Given the description of an element on the screen output the (x, y) to click on. 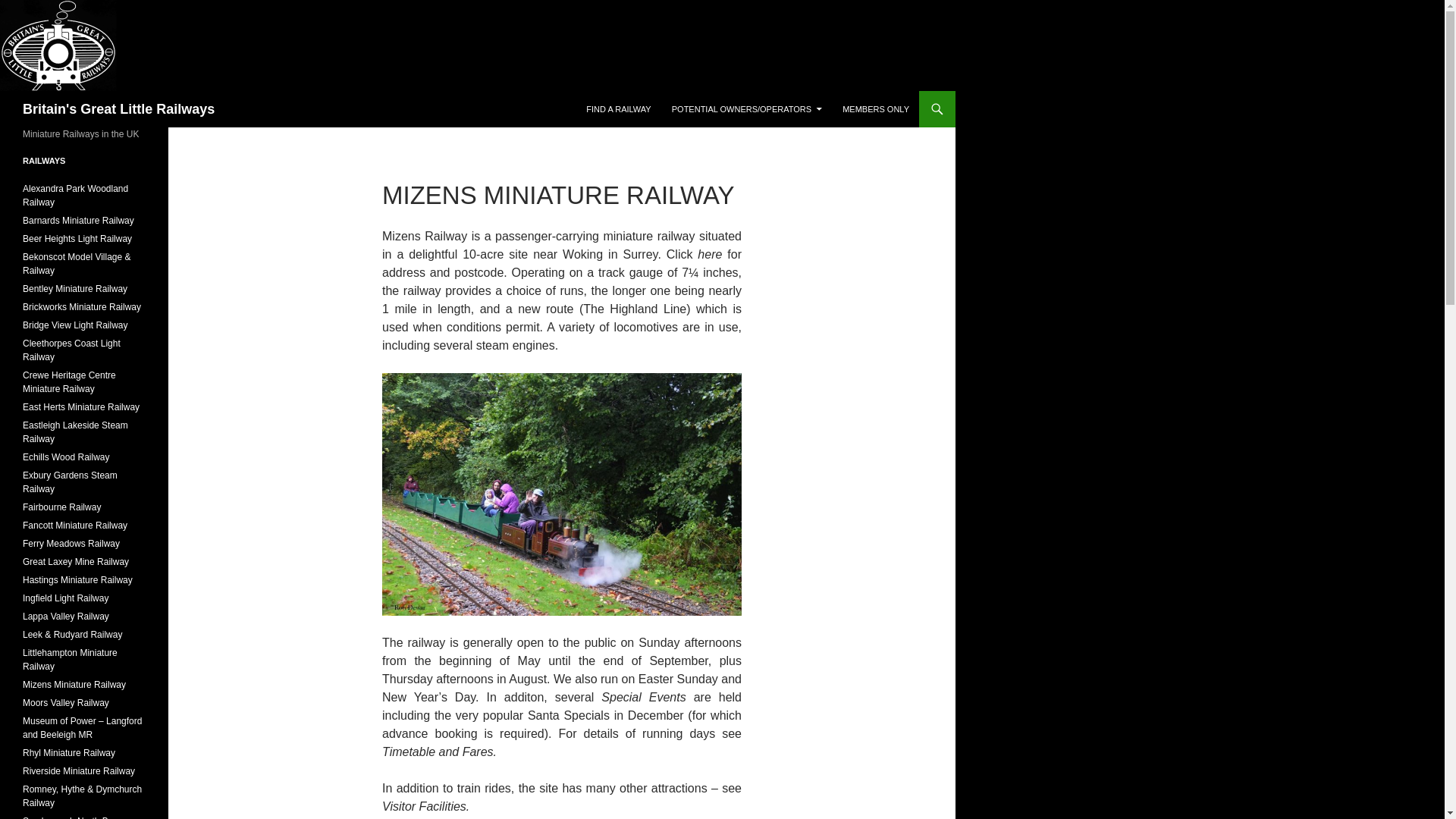
Great Laxey Mine Railway (76, 561)
Echills Wood Railway (66, 457)
Bentley Miniature Railway (75, 288)
Ingfield Light Railway (65, 597)
East Herts Miniature Railway (81, 407)
Beer Heights Light Railway (77, 238)
Crewe Heritage Centre Miniature Railway (69, 381)
Barnards Miniature Railway (78, 220)
Fairbourne Railway (61, 507)
Lappa Valley Railway (66, 615)
Brickworks Miniature Railway (82, 307)
Fancott Miniature Railway (75, 525)
Exbury Gardens Steam Railway (70, 482)
